Given the description of an element on the screen output the (x, y) to click on. 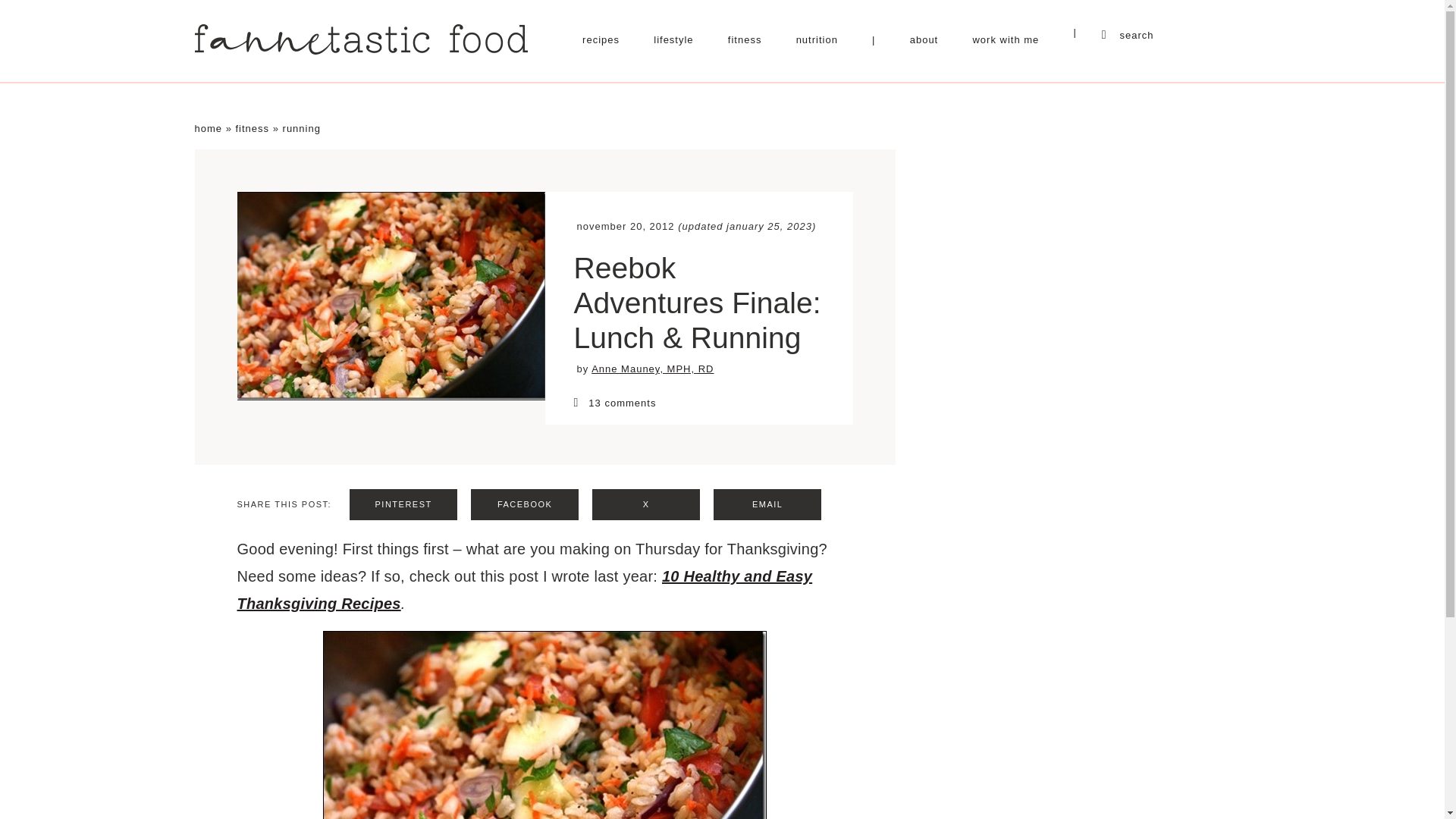
fitness (744, 39)
fitness (251, 128)
recipes (601, 39)
lifestyle (673, 39)
nutrition (817, 39)
about (924, 39)
10 Healthy and Easy Thanksgiving Recipes (523, 589)
thanksgiving (545, 724)
X (646, 504)
work with me (1005, 39)
home (207, 128)
EMAIL (767, 504)
13 comments (698, 402)
running (301, 128)
Anne Mauney, MPH, RD (652, 368)
